Given the description of an element on the screen output the (x, y) to click on. 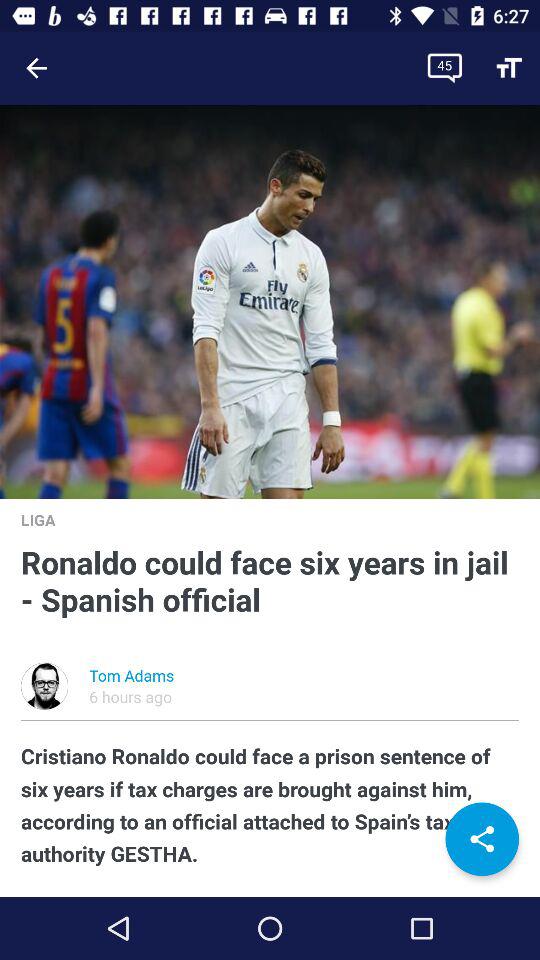
jump until 45 item (443, 67)
